Given the description of an element on the screen output the (x, y) to click on. 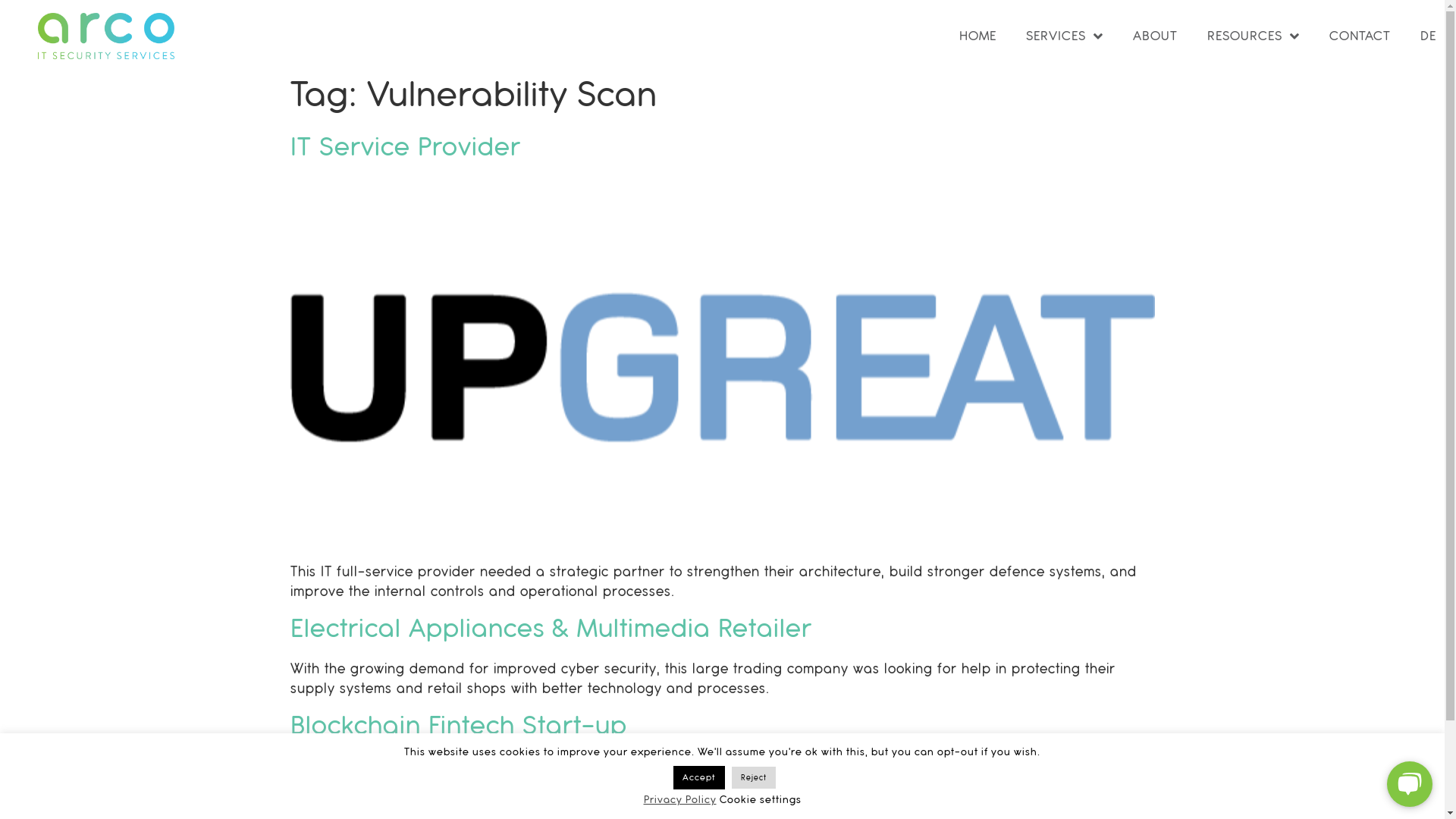
SERVICES Element type: text (1064, 35)
Reject Element type: text (753, 777)
IT Service Provider Element type: text (404, 146)
ABOUT Element type: text (1154, 35)
DE Element type: text (1428, 35)
CONTACT Element type: text (1359, 35)
Blockchain Fintech Start-up Element type: text (457, 725)
Cookie settings Element type: text (759, 799)
Privacy Policy Element type: text (679, 799)
Electrical Appliances & Multimedia Retailer Element type: text (550, 628)
HOME Element type: text (977, 35)
RESOURCES Element type: text (1253, 35)
Accept Element type: text (698, 777)
